Given the description of an element on the screen output the (x, y) to click on. 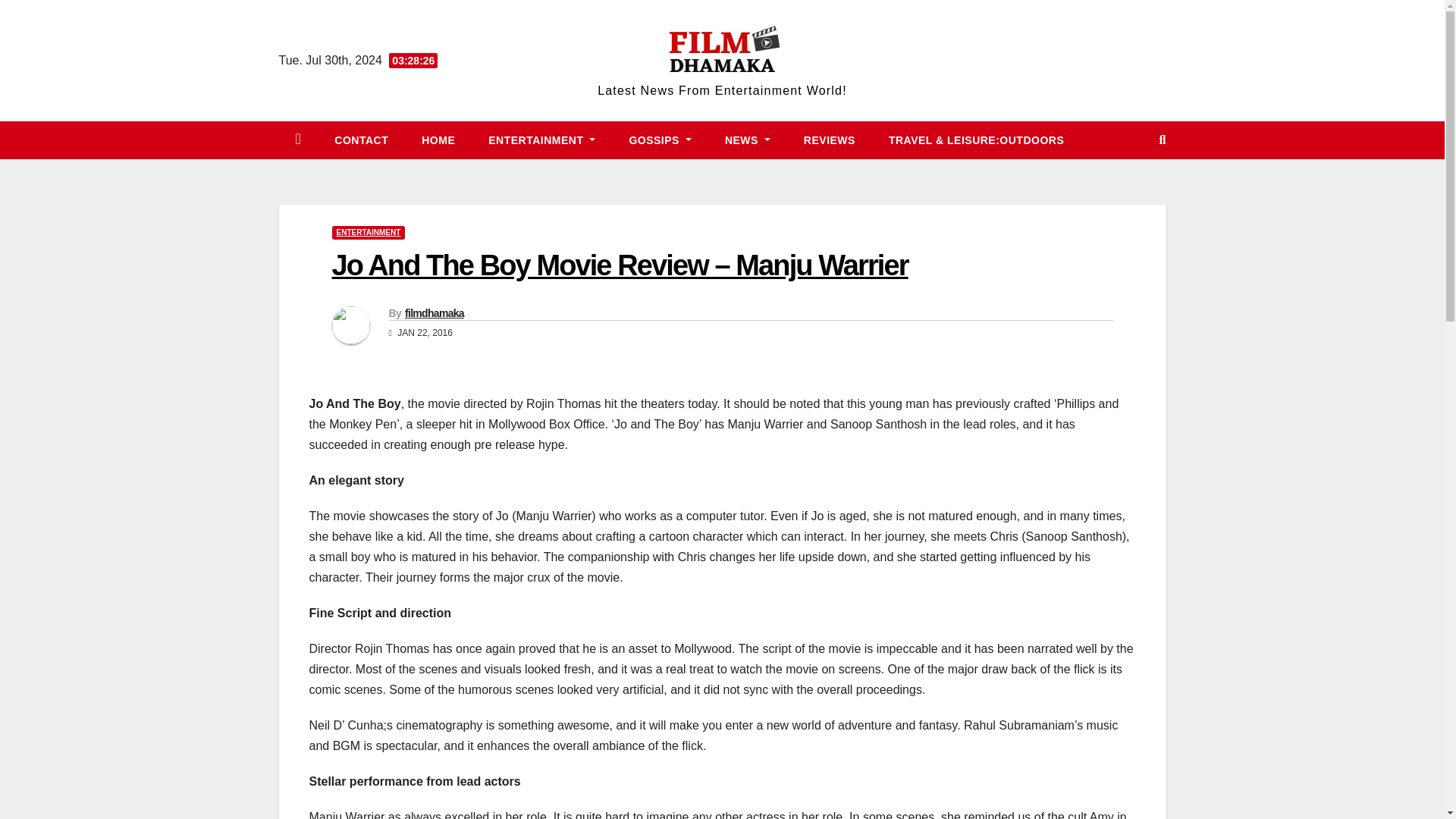
ENTERTAINMENT (541, 139)
NEWS (747, 139)
REVIEWS (829, 139)
Reviews (829, 139)
Contact (360, 139)
Home (437, 139)
filmdhamaka (434, 313)
GOSSIPS (659, 139)
News (747, 139)
CONTACT (360, 139)
Entertainment (541, 139)
ENTERTAINMENT (368, 232)
Gossips (659, 139)
HOME (437, 139)
